Given the description of an element on the screen output the (x, y) to click on. 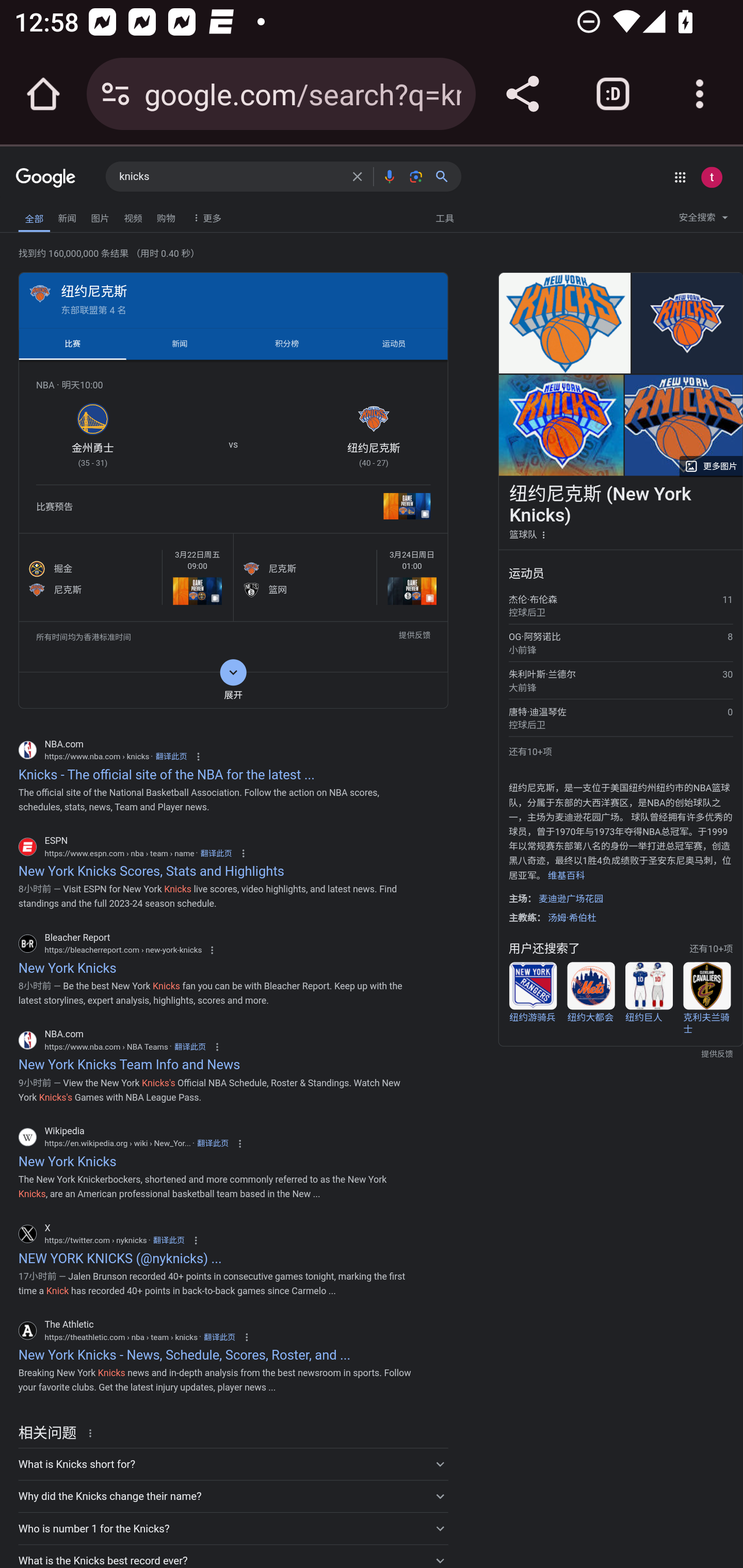
Open the home page (43, 93)
Connection is secure (115, 93)
Share (522, 93)
Switch or close tabs (612, 93)
Customize and control Google Chrome (699, 93)
清除 (357, 176)
按语音搜索 (388, 176)
按图搜索 (415, 176)
搜索 (445, 176)
Google 应用 (679, 176)
Google 账号： test appium (testappium002@gmail.com) (711, 176)
Google (45, 178)
knicks (229, 177)
无障碍功能反馈 (42, 212)
新闻 (67, 216)
图片 (99, 216)
视频 (133, 216)
购物 (166, 216)
更多 (205, 216)
安全搜索 (703, 219)
工具 (443, 216)
纽约尼克斯 东部联盟第 4 名 纽约尼克斯 东部联盟第 4 名 (232, 299)
比赛 (71, 343)
新闻 (179, 343)
积分榜 (286, 343)
运动员 (394, 343)
比赛预告 (232, 508)
提供反馈 (413, 637)
展开 (232, 689)
翻译此页 (170, 757)
翻译此页 (215, 852)
翻译此页 (189, 1045)
翻译此页 (212, 1142)
翻译此页 (169, 1240)
翻译此页 (219, 1337)
关于这条结果的详细信息 (93, 1432)
What is Knicks short for? (232, 1463)
Why did the Knicks change their name? (232, 1495)
Who is number 1 for the Knicks? (232, 1527)
What is the Knicks best record ever? (232, 1556)
